Given the description of an element on the screen output the (x, y) to click on. 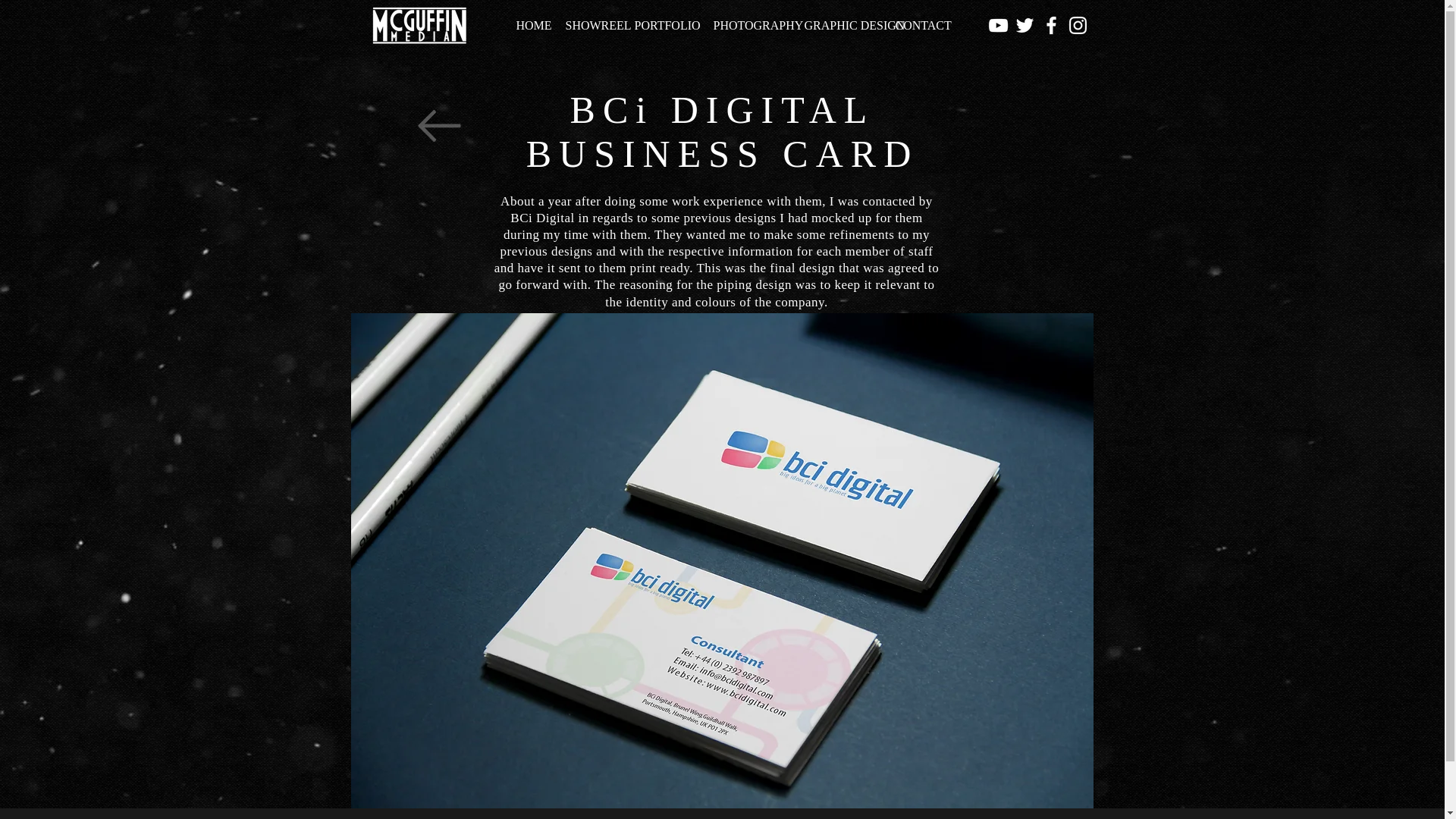
SHOWREEL (588, 25)
GRAPHIC DESIGN (838, 25)
CONTACT (916, 25)
PHOTOGRAPHY (747, 25)
PORTFOLIO (662, 25)
HOME (529, 25)
